Given the description of an element on the screen output the (x, y) to click on. 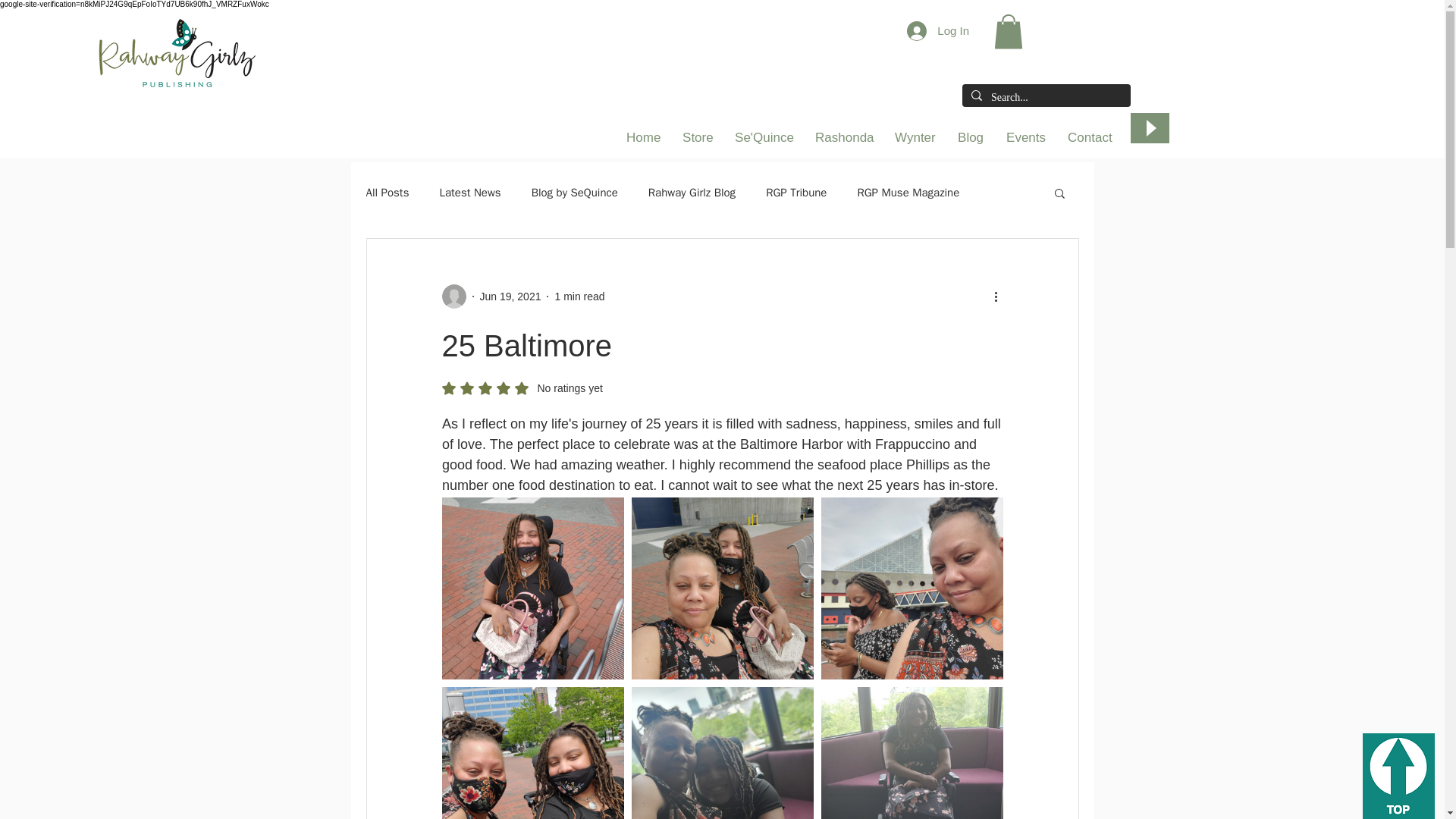
Store (697, 137)
Jun 19, 2021 (509, 296)
RGP Muse Magazine (908, 192)
Blog by SeQuince (574, 192)
Latest News (469, 192)
Log In (937, 30)
Home (642, 137)
Se'Quince (763, 137)
All Posts (387, 192)
